Given the description of an element on the screen output the (x, y) to click on. 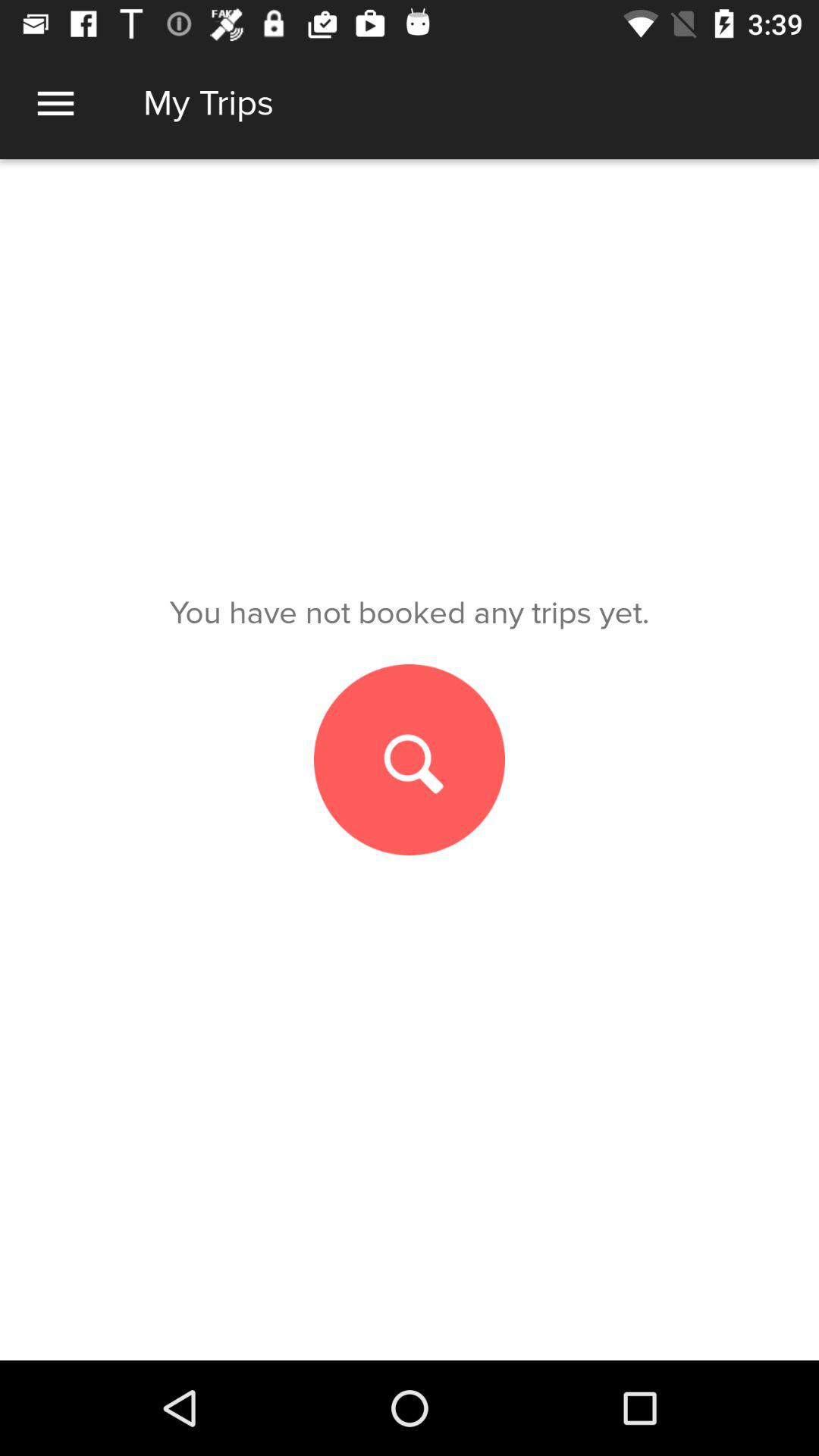
extract menu (55, 103)
